Given the description of an element on the screen output the (x, y) to click on. 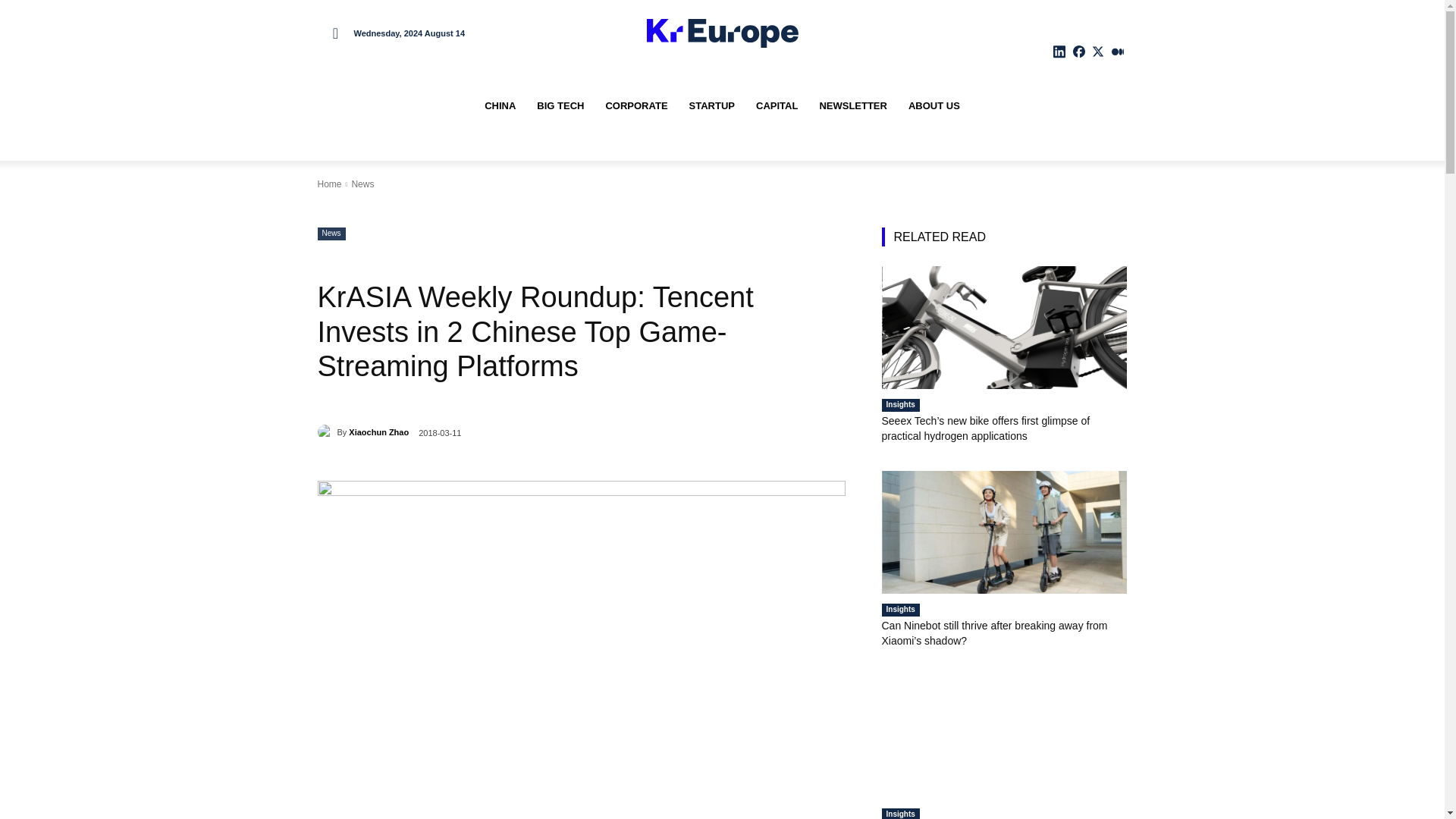
Xiaochun Zhao (326, 432)
Xiaochun Zhao (379, 431)
NEWSLETTER (853, 105)
CAPITAL (776, 105)
BIG TECH (559, 105)
View all posts in News (362, 184)
Home (328, 184)
News (362, 184)
CHINA (499, 105)
